Given the description of an element on the screen output the (x, y) to click on. 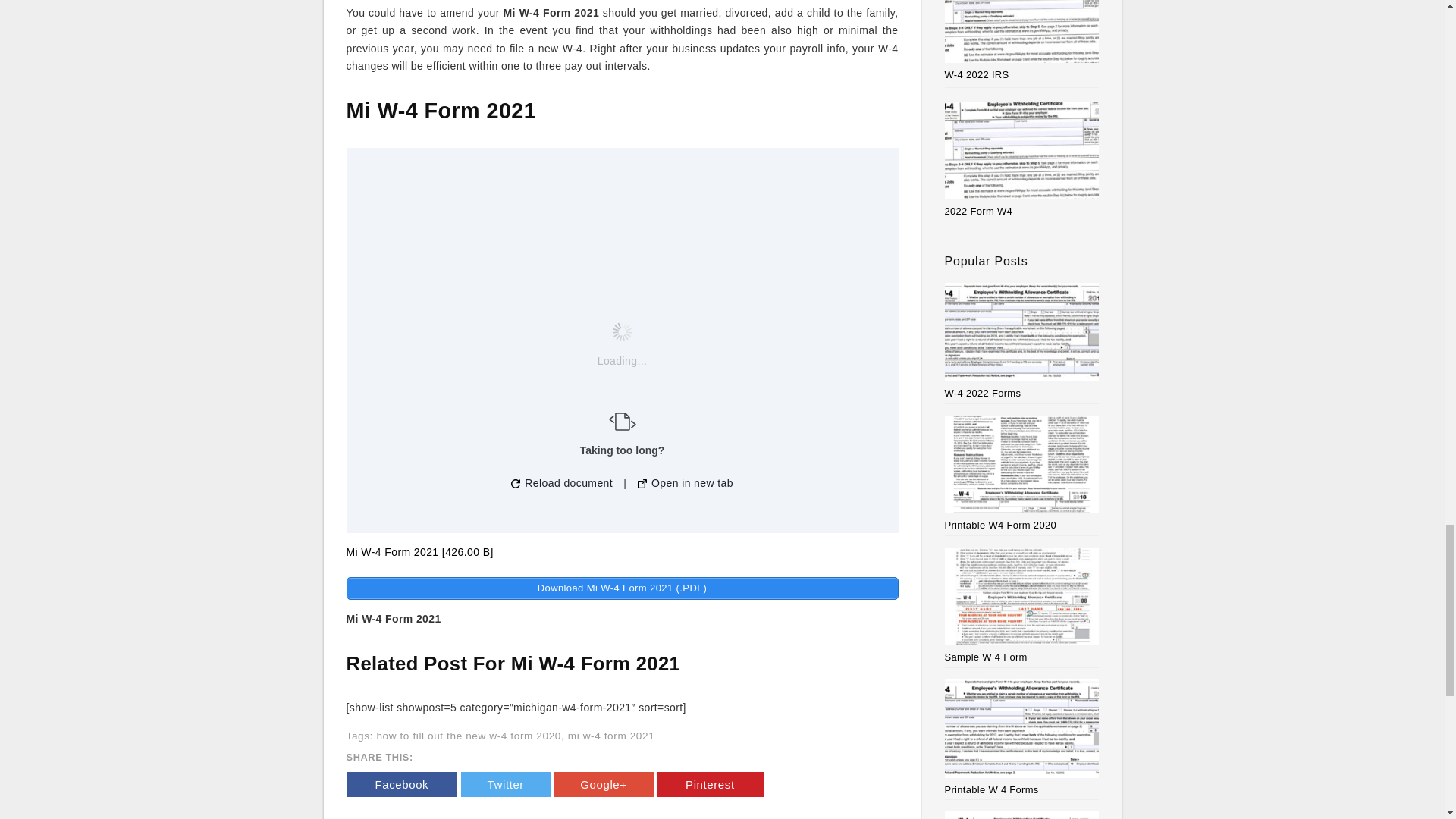
Pinterest (709, 784)
Twitter (505, 784)
Facebook (401, 784)
how to fill out the new w-4 form 2020 (467, 736)
reload (515, 483)
mi w-4 form 2021 (611, 736)
loading (622, 331)
open (641, 483)
EAD logo (621, 421)
Open in new tab (685, 483)
